Given the description of an element on the screen output the (x, y) to click on. 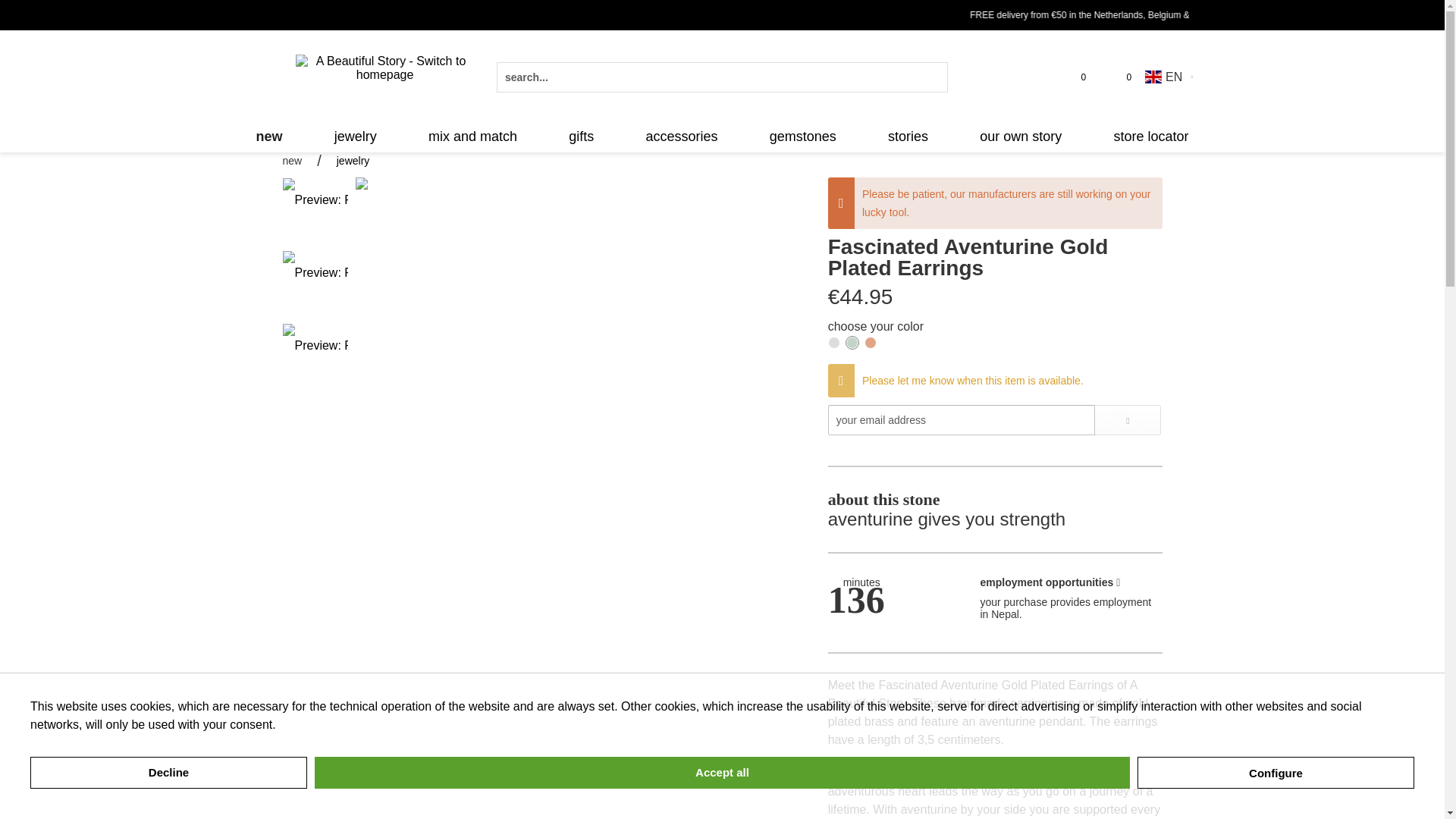
jewelry (355, 136)
stories (907, 136)
Shopping cart (1118, 77)
0 (1118, 77)
accessories (681, 136)
gemstones (802, 136)
our own story (1020, 136)
new (269, 136)
gifts (581, 136)
accessories (681, 136)
0 (1073, 77)
mix and match (472, 136)
gifts (581, 136)
new (269, 136)
